Given the description of an element on the screen output the (x, y) to click on. 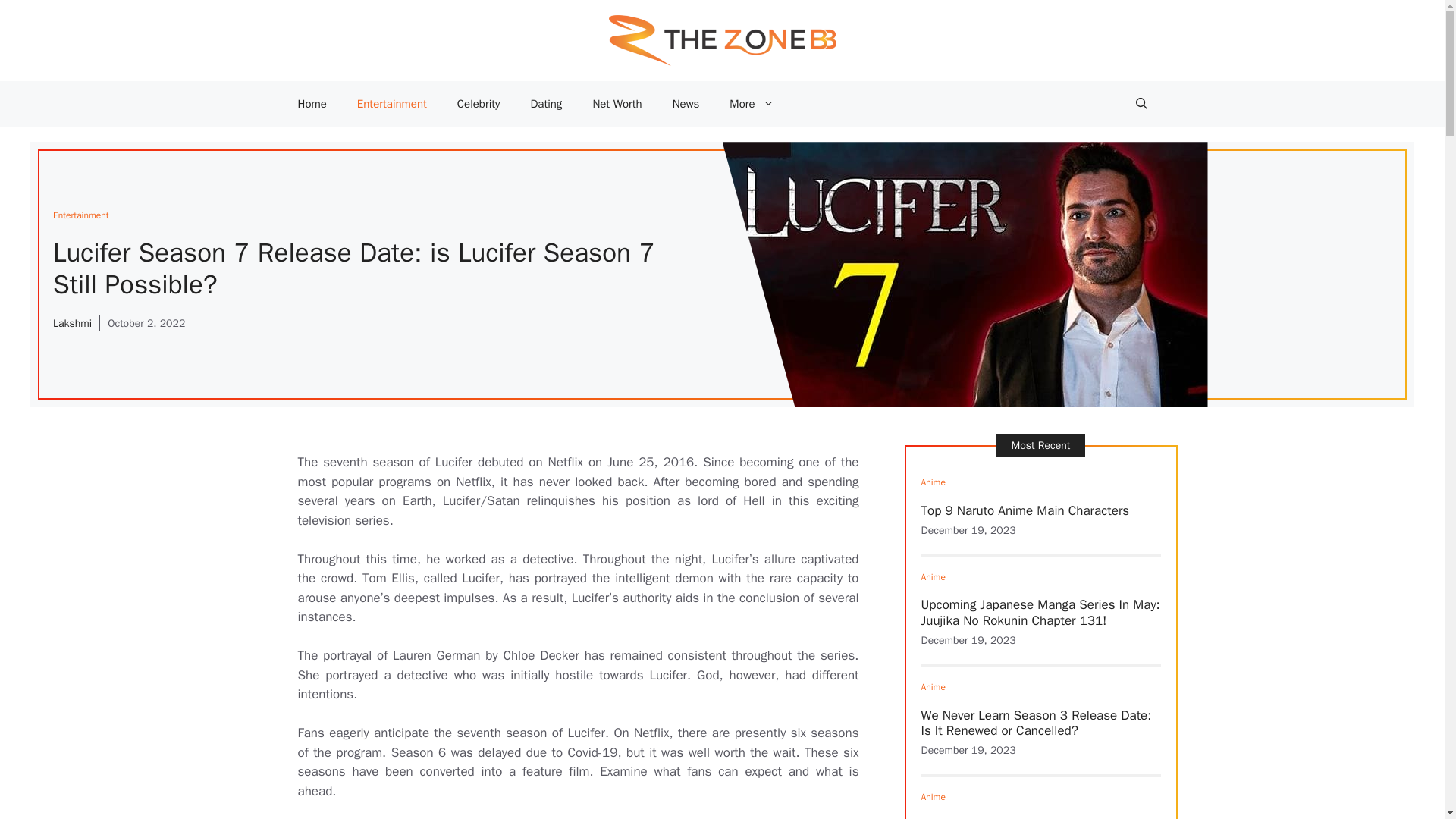
Entertainment (392, 103)
Anime (932, 576)
Anime (932, 797)
Home (311, 103)
Anime (932, 686)
Celebrity (478, 103)
Top 9 Naruto Anime Main Characters (1024, 510)
More (751, 103)
Net Worth (616, 103)
